Given the description of an element on the screen output the (x, y) to click on. 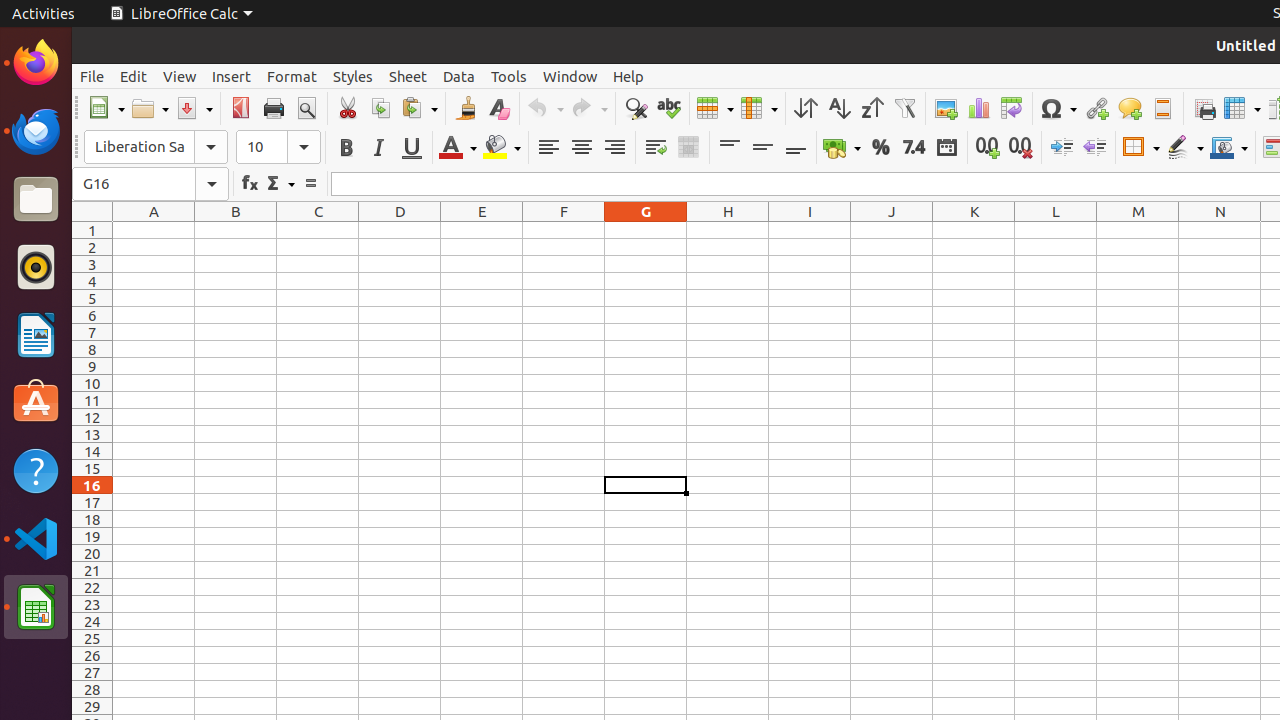
Thunderbird Mail Element type: push-button (36, 131)
Comment Element type: push-button (1129, 108)
Decrease Element type: push-button (1094, 147)
K1 Element type: table-cell (974, 230)
